Given the description of an element on the screen output the (x, y) to click on. 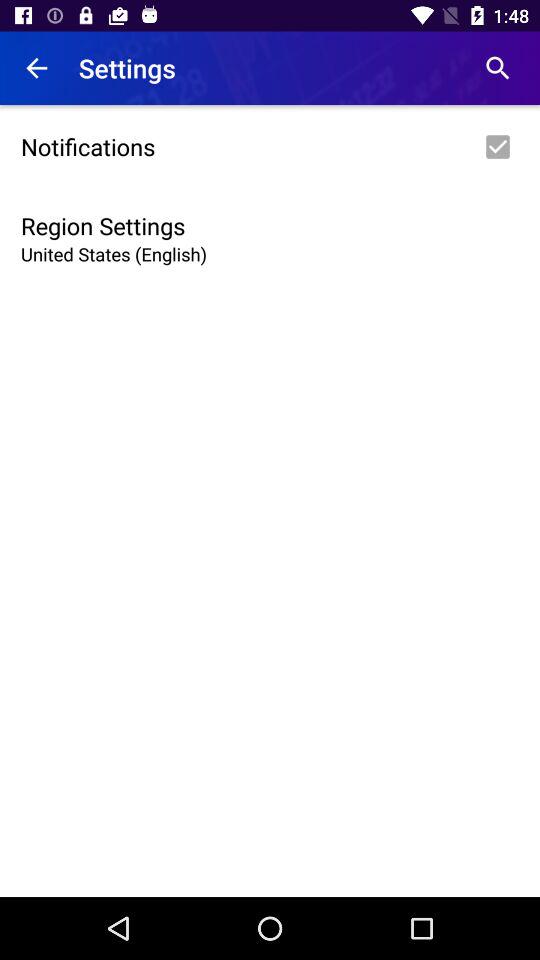
choose the app to the left of settings icon (36, 68)
